Given the description of an element on the screen output the (x, y) to click on. 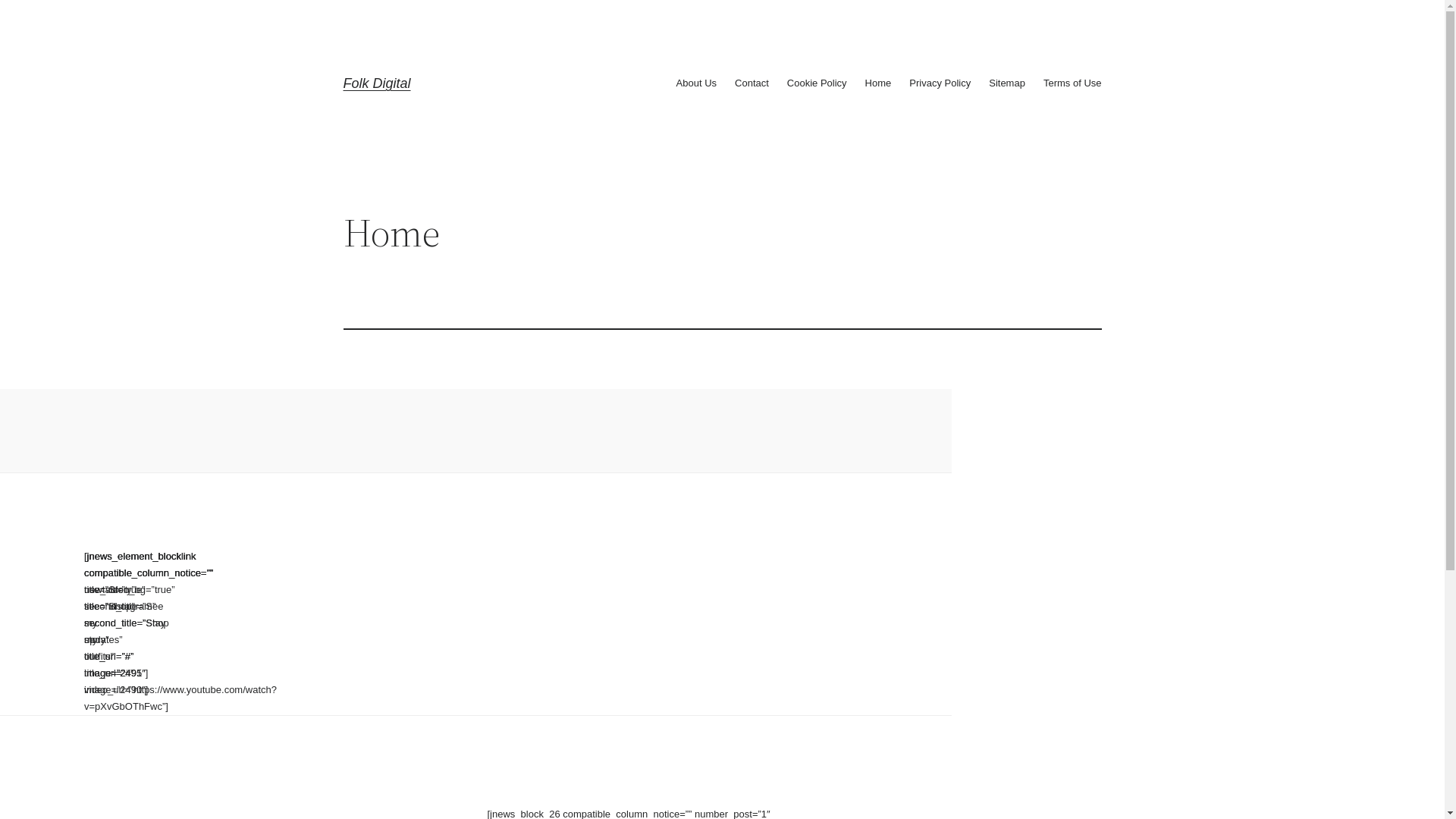
Terms of Use Element type: text (1072, 83)
Cookie Policy Element type: text (817, 83)
Folk Digital Element type: text (376, 83)
Contact Element type: text (751, 83)
Privacy Policy Element type: text (939, 83)
Home Element type: text (878, 83)
Sitemap Element type: text (1006, 83)
About Us Element type: text (696, 83)
